Given the description of an element on the screen output the (x, y) to click on. 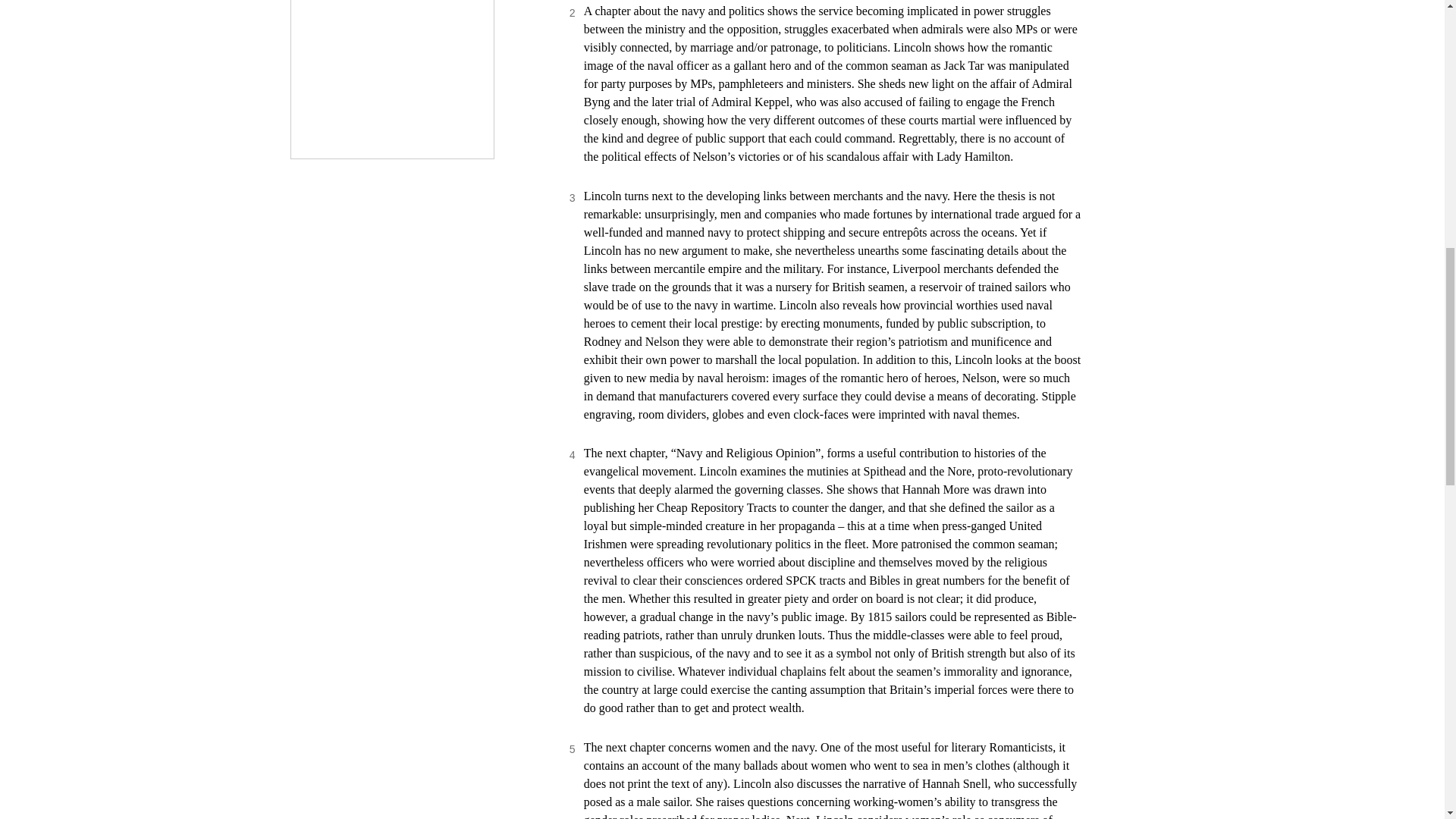
Rapport annuel 2022-2023 (392, 79)
